Given the description of an element on the screen output the (x, y) to click on. 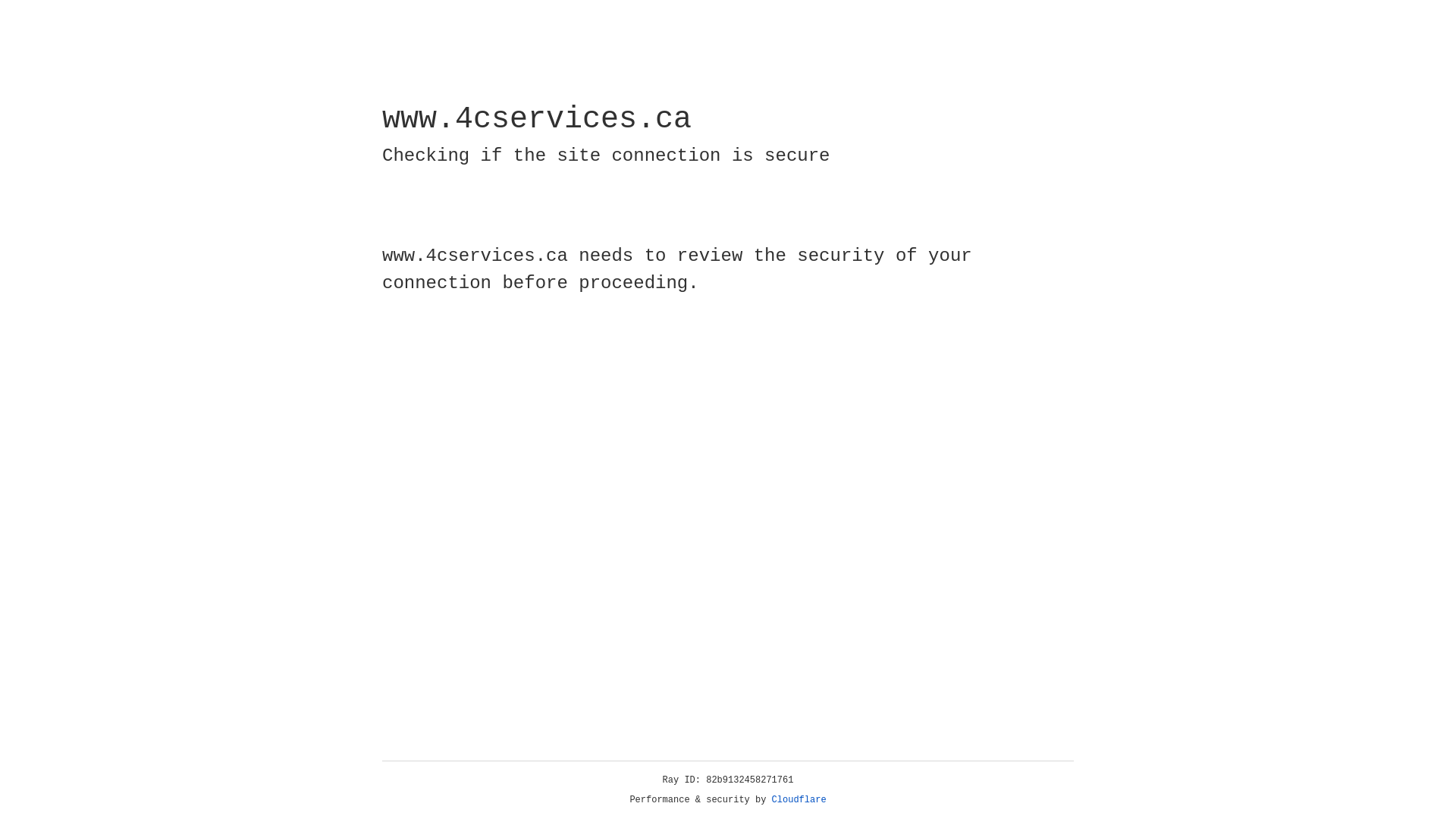
Cloudflare Element type: text (798, 799)
